Given the description of an element on the screen output the (x, y) to click on. 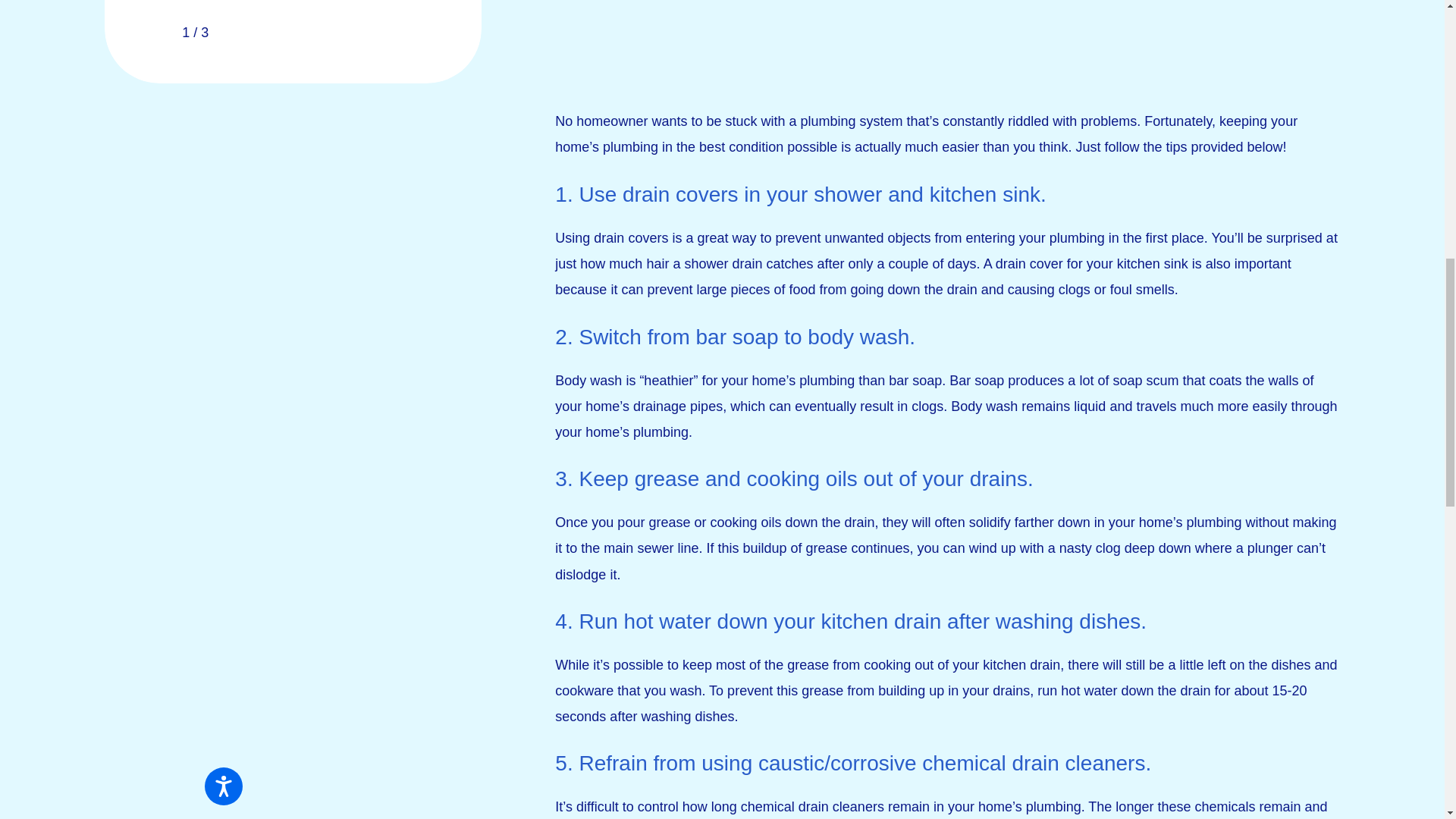
View next item (232, 33)
View previous item (157, 33)
